Given the description of an element on the screen output the (x, y) to click on. 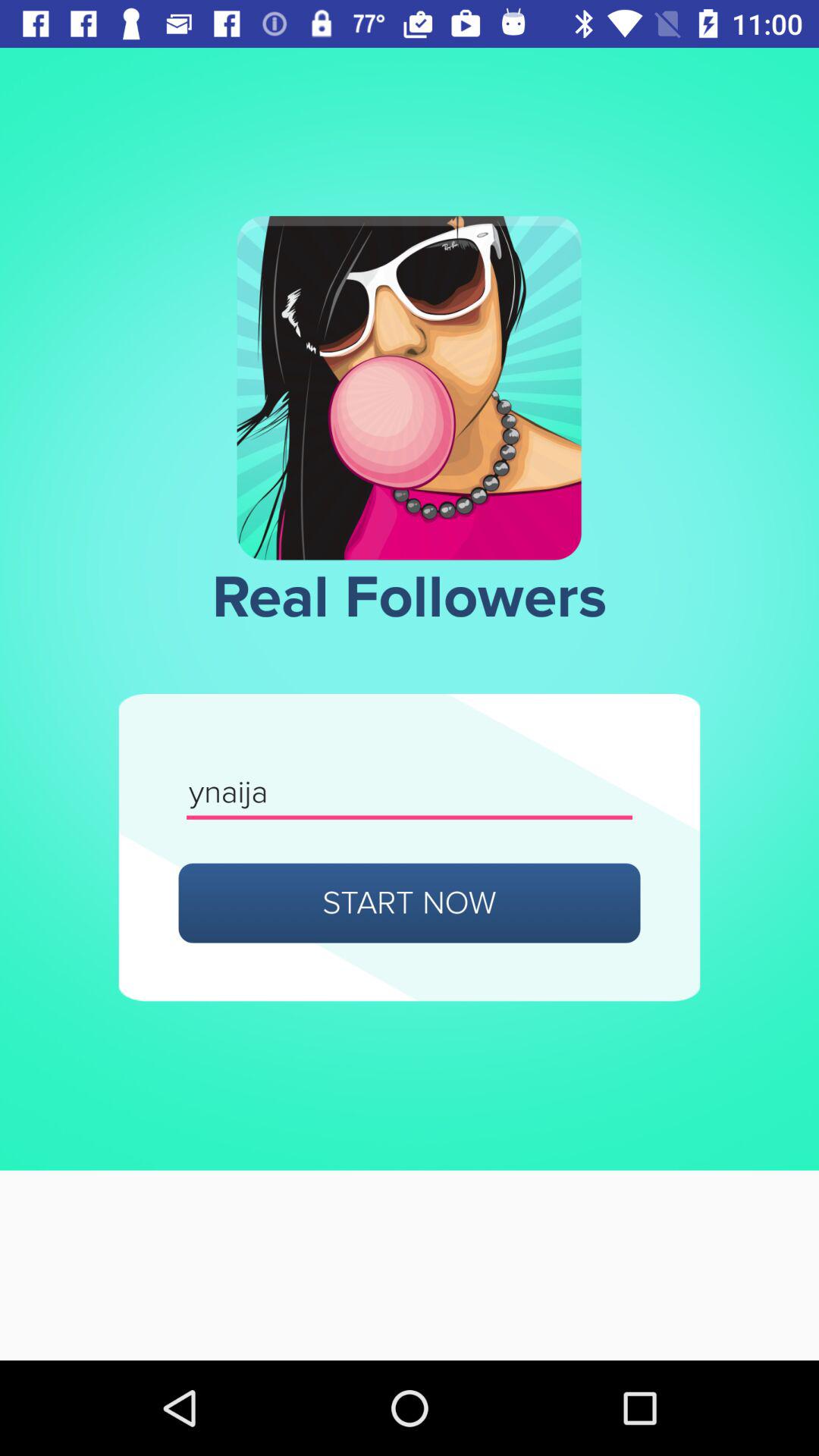
turn on item below ynaija icon (409, 902)
